Given the description of an element on the screen output the (x, y) to click on. 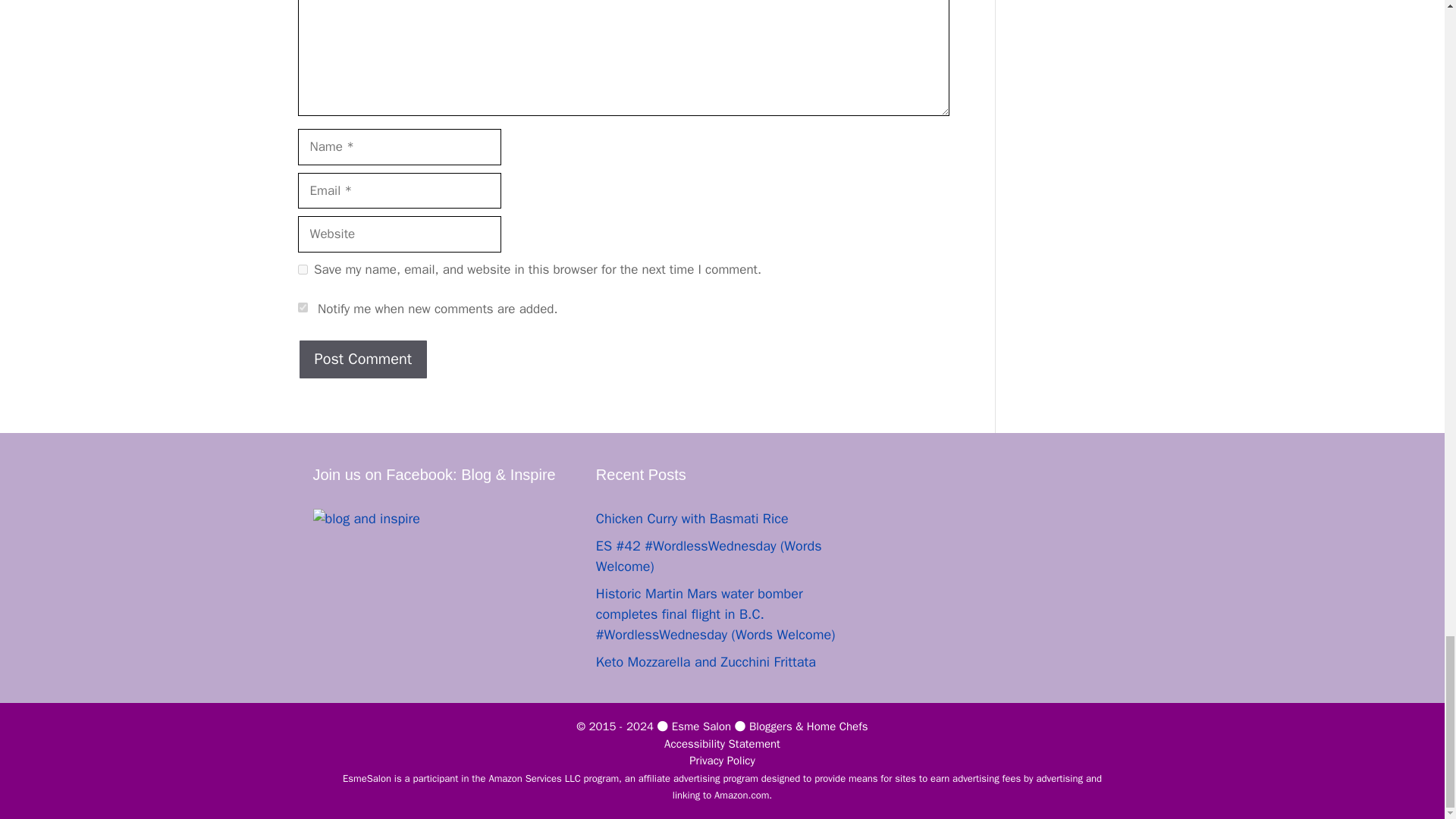
1 (302, 307)
Post Comment (362, 359)
yes (302, 269)
